Given the description of an element on the screen output the (x, y) to click on. 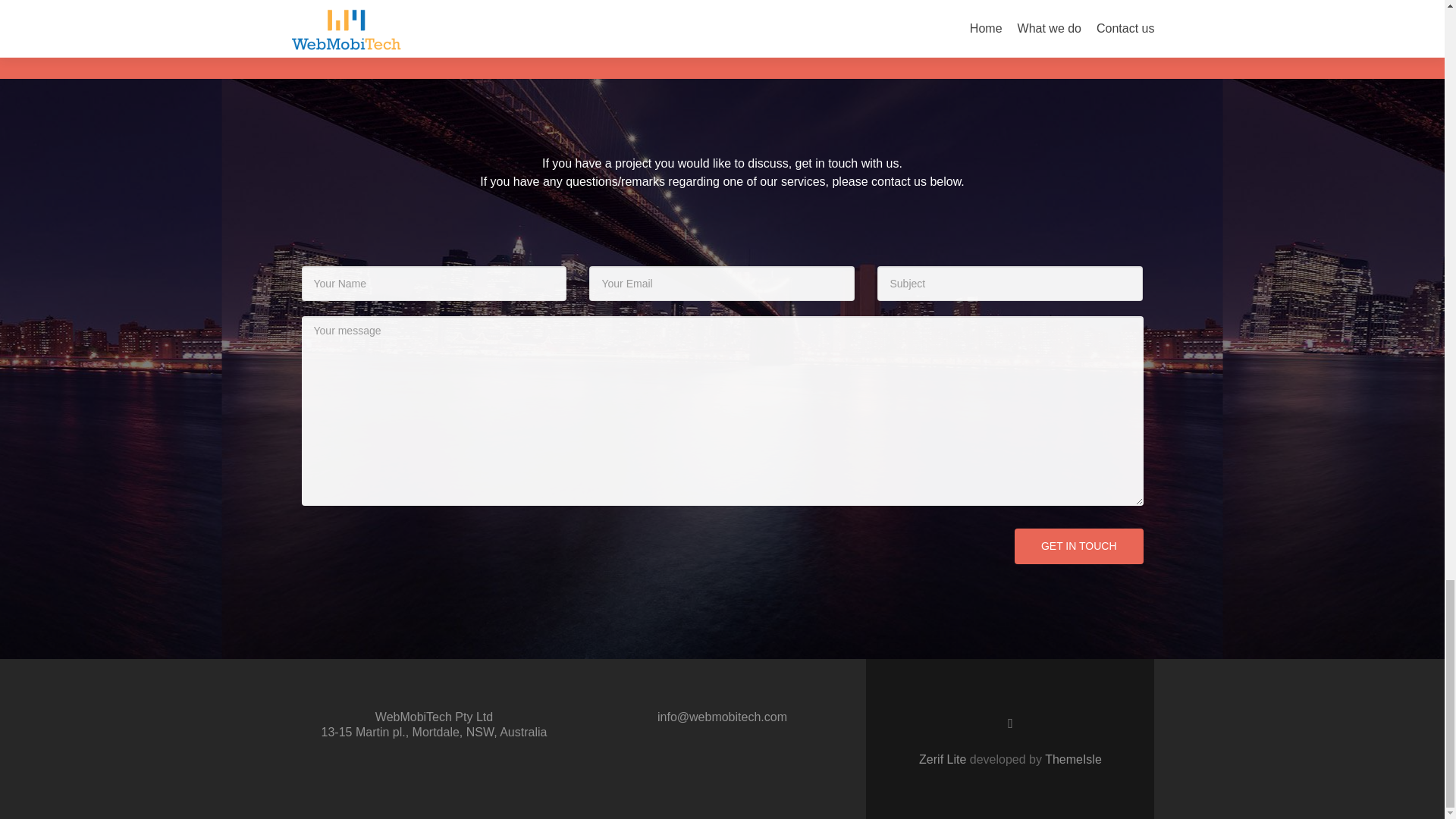
Zerif Lite (943, 758)
ThemeIsle (1073, 758)
GET IN TOUCH (1078, 546)
